Given the description of an element on the screen output the (x, y) to click on. 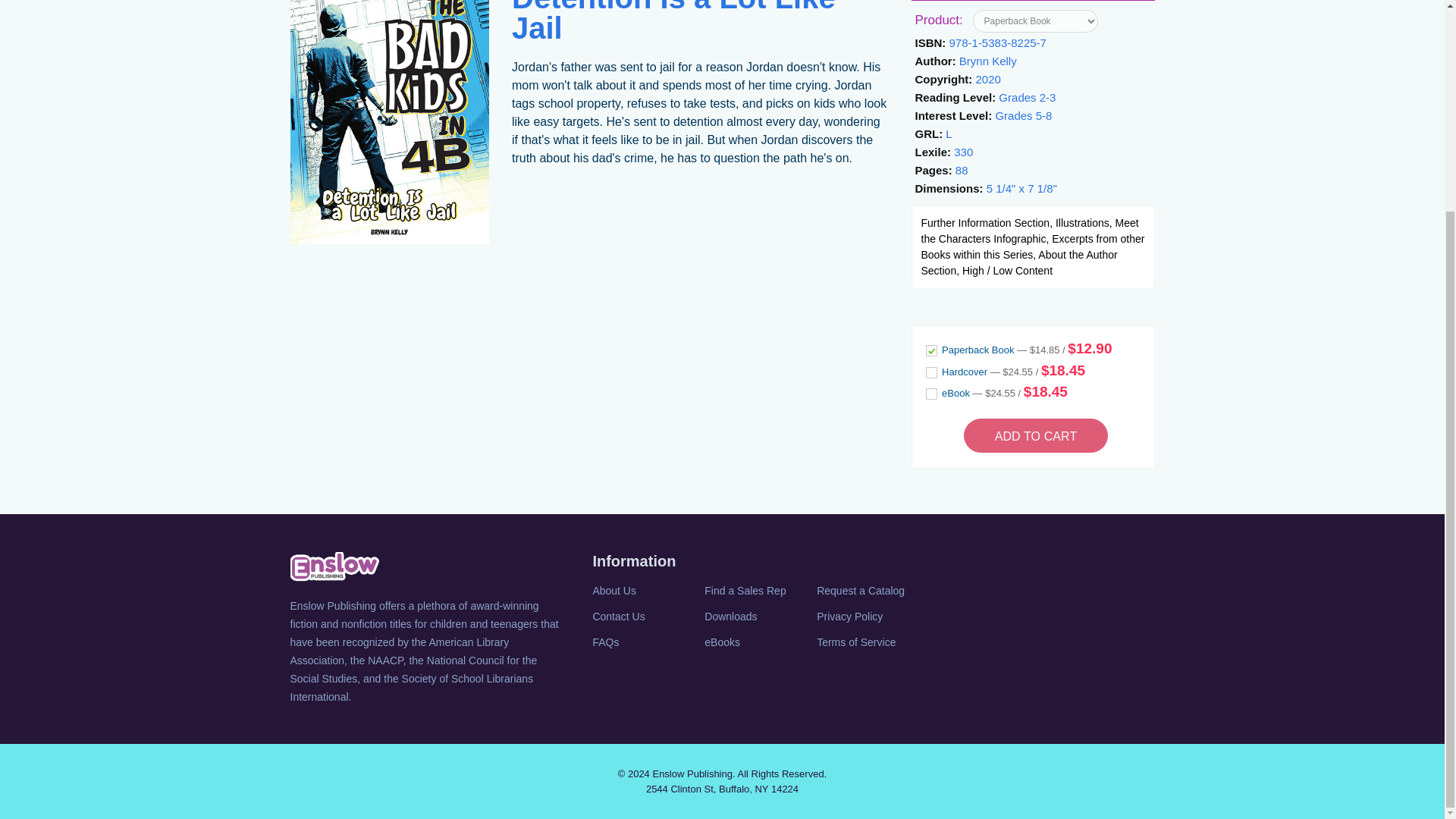
About Us (646, 590)
Add to cart (1035, 434)
Request a Catalog (871, 590)
Terms of Service (871, 642)
eBooks (758, 642)
Add to cart (1035, 434)
Privacy Policy (871, 616)
FAQs (646, 642)
Downloads (758, 616)
Find a Sales Rep (758, 590)
Contact Us (646, 616)
